Given the description of an element on the screen output the (x, y) to click on. 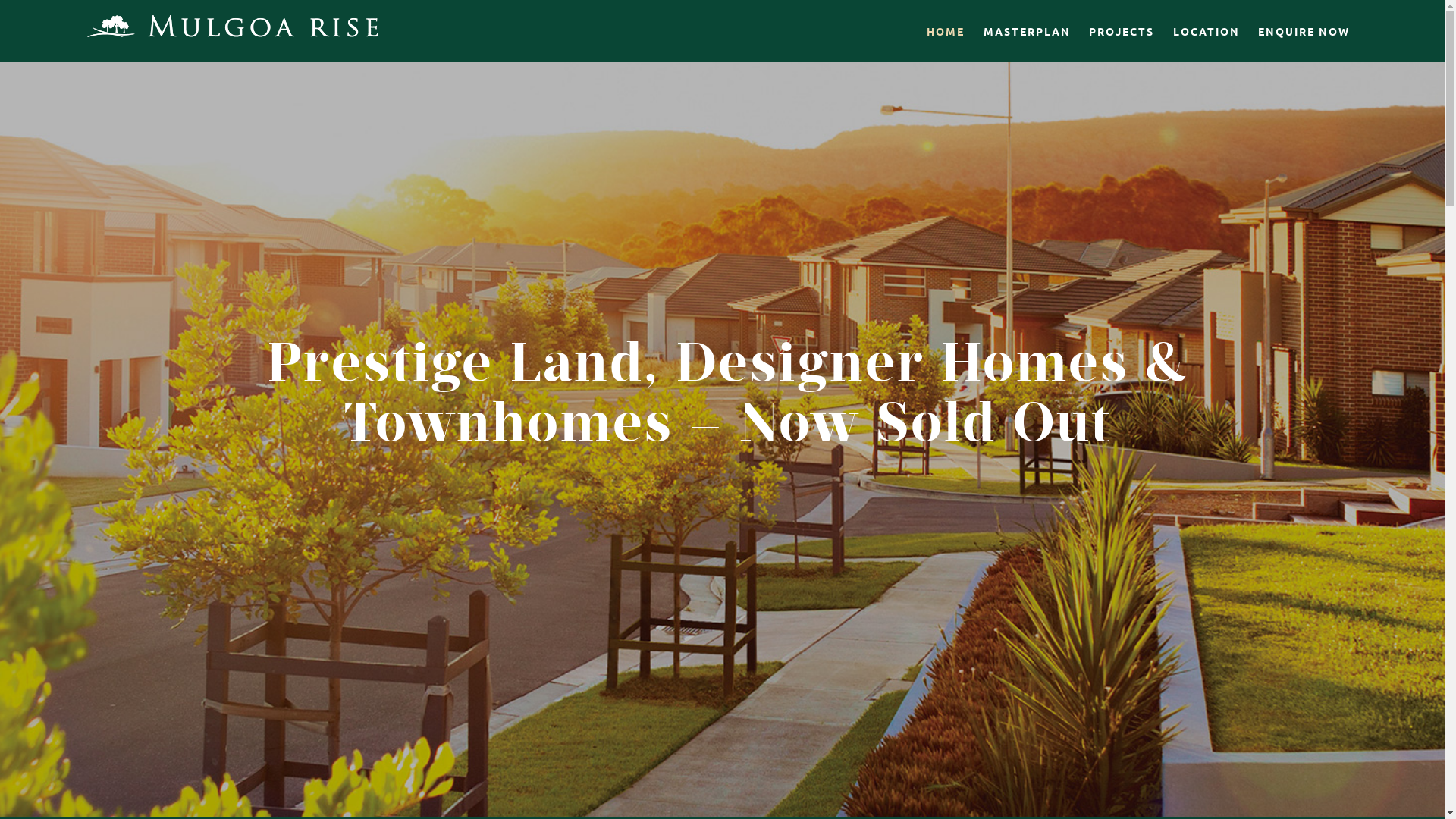
LOCATION Element type: text (1206, 31)
PROJECTS Element type: text (1121, 31)
HOME Element type: text (945, 31)
ENQUIRE NOW Element type: text (1303, 31)
MASTERPLAN Element type: text (1026, 31)
